Given the description of an element on the screen output the (x, y) to click on. 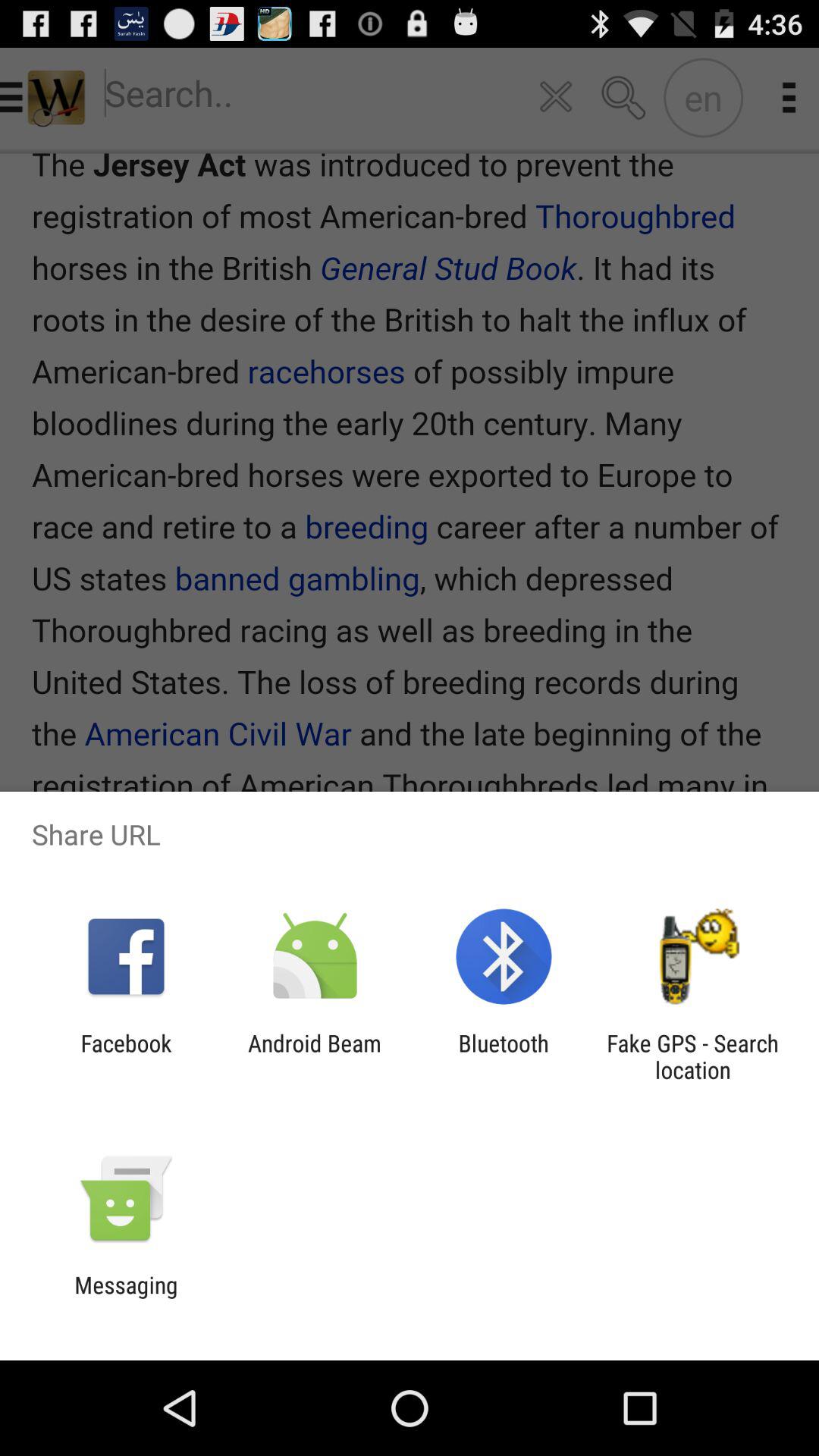
turn off app next to fake gps search icon (503, 1056)
